Given the description of an element on the screen output the (x, y) to click on. 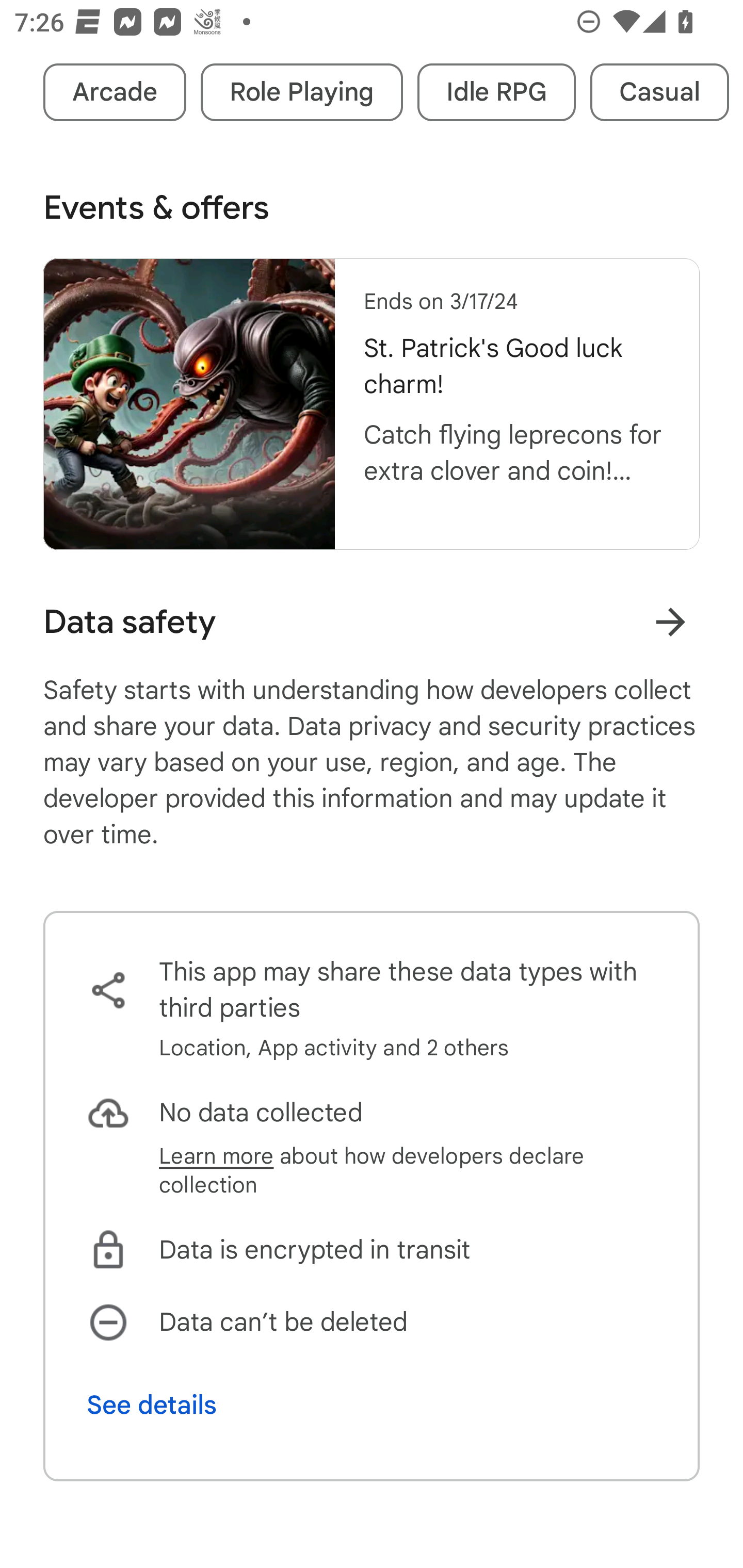
Arcade tag (114, 92)
Role Playing tag (301, 92)
Idle RPG tag (496, 92)
Casual tag (658, 92)
Data safety Learn more about data safety (371, 621)
Learn more about data safety (670, 621)
Learn more about how developers declare collection (407, 1170)
See details (151, 1405)
